Given the description of an element on the screen output the (x, y) to click on. 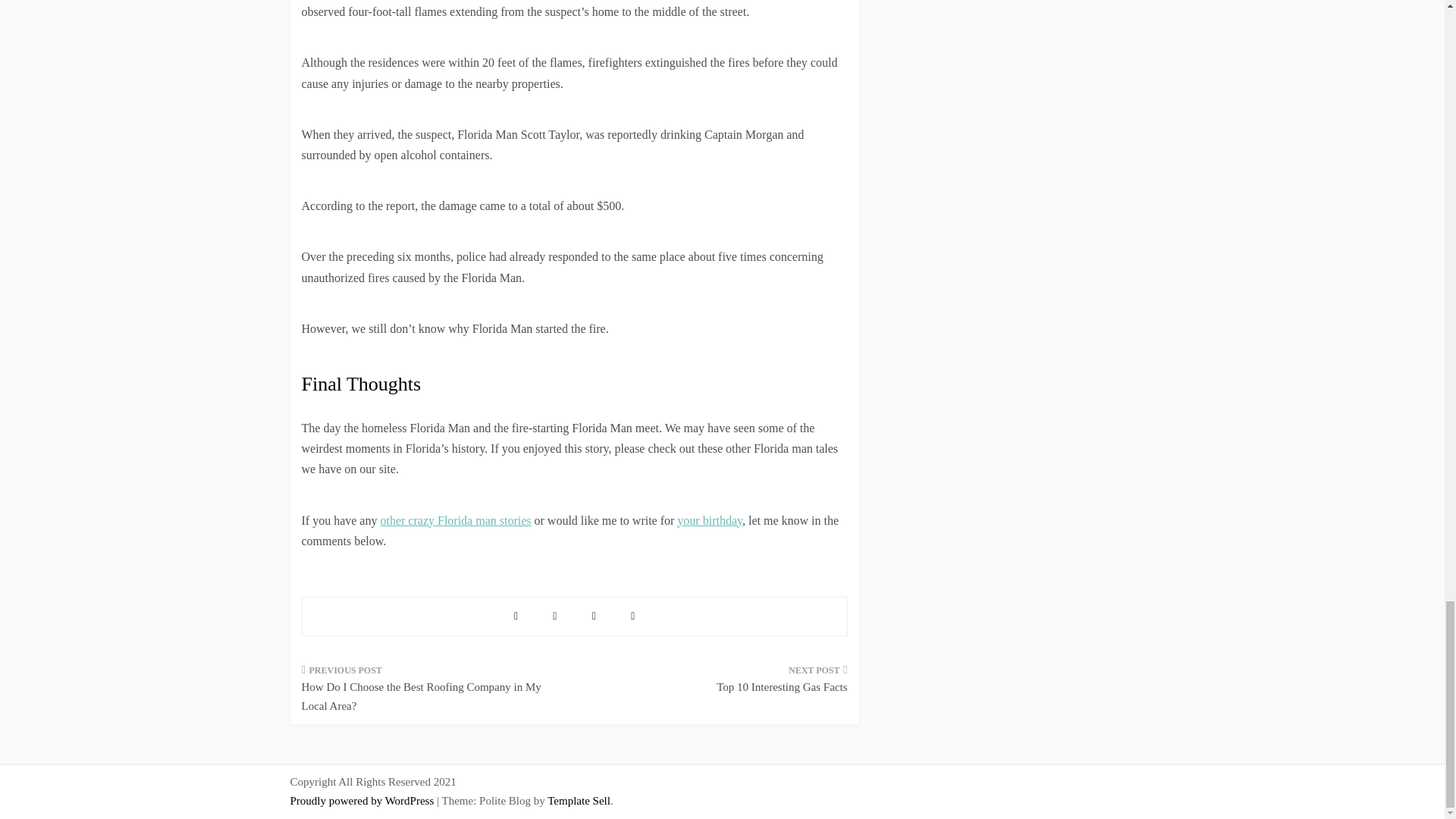
How Do I Choose the Best Roofing Company in My Local Area? (432, 692)
other crazy Florida man stories (455, 520)
your birthday (709, 520)
Top 10 Interesting Gas Facts (716, 683)
